Given the description of an element on the screen output the (x, y) to click on. 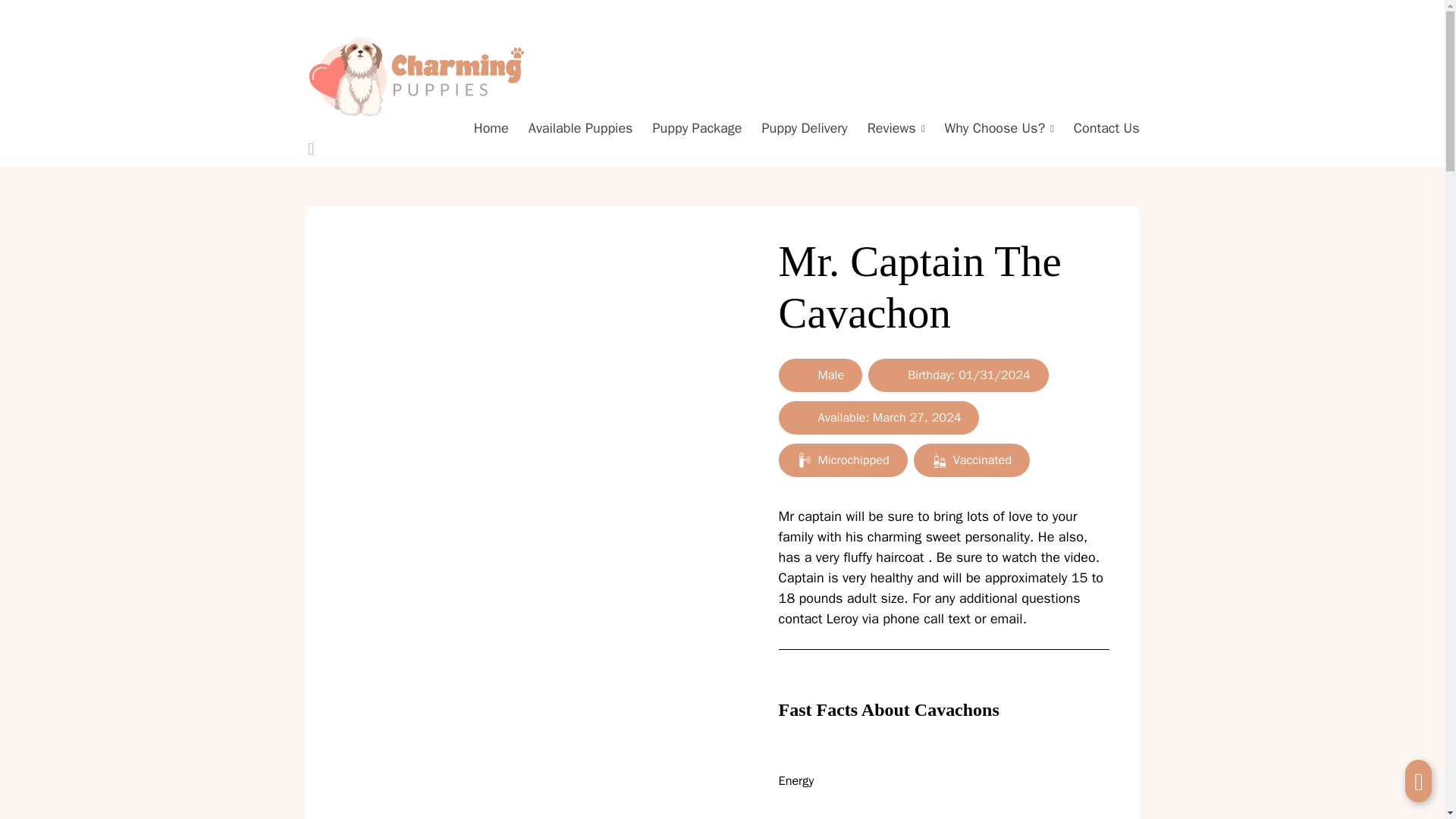
Puppy Package (696, 128)
Why Choose Us? (994, 128)
Reviews (891, 128)
Available Puppies (580, 128)
Puppy Delivery (804, 128)
Contact Us (1107, 128)
Home (491, 128)
Sign Up for New Litter Alerts (1054, 13)
